Given the description of an element on the screen output the (x, y) to click on. 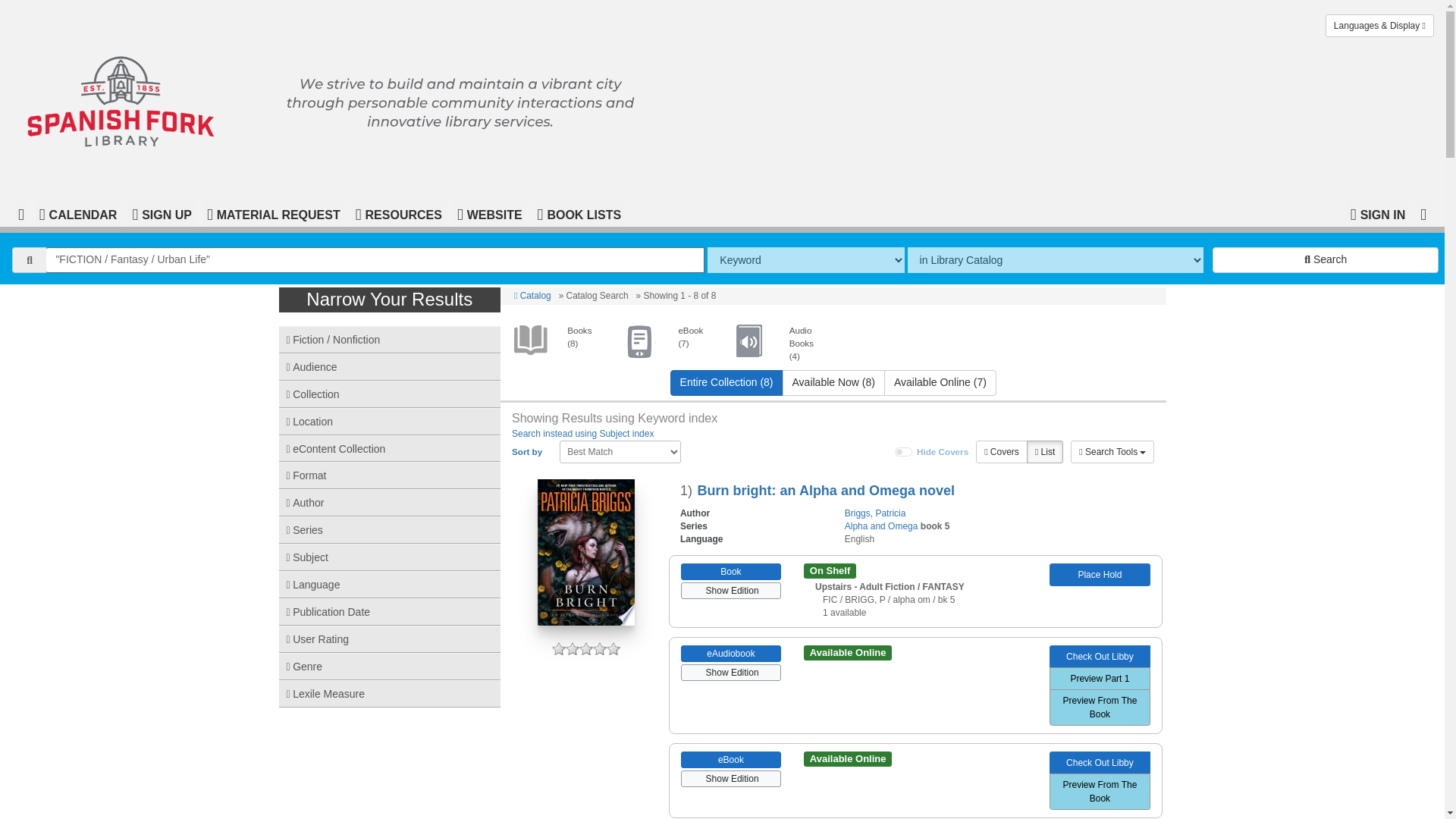
CALENDAR (77, 212)
MATERIAL REQUEST (273, 212)
Library Home Page (332, 99)
BOOK LISTS (580, 212)
Login (1377, 212)
on (903, 451)
 Search (1325, 259)
SIGN IN (1377, 212)
RESOURCES (398, 212)
SIGN UP (161, 212)
